Given the description of an element on the screen output the (x, y) to click on. 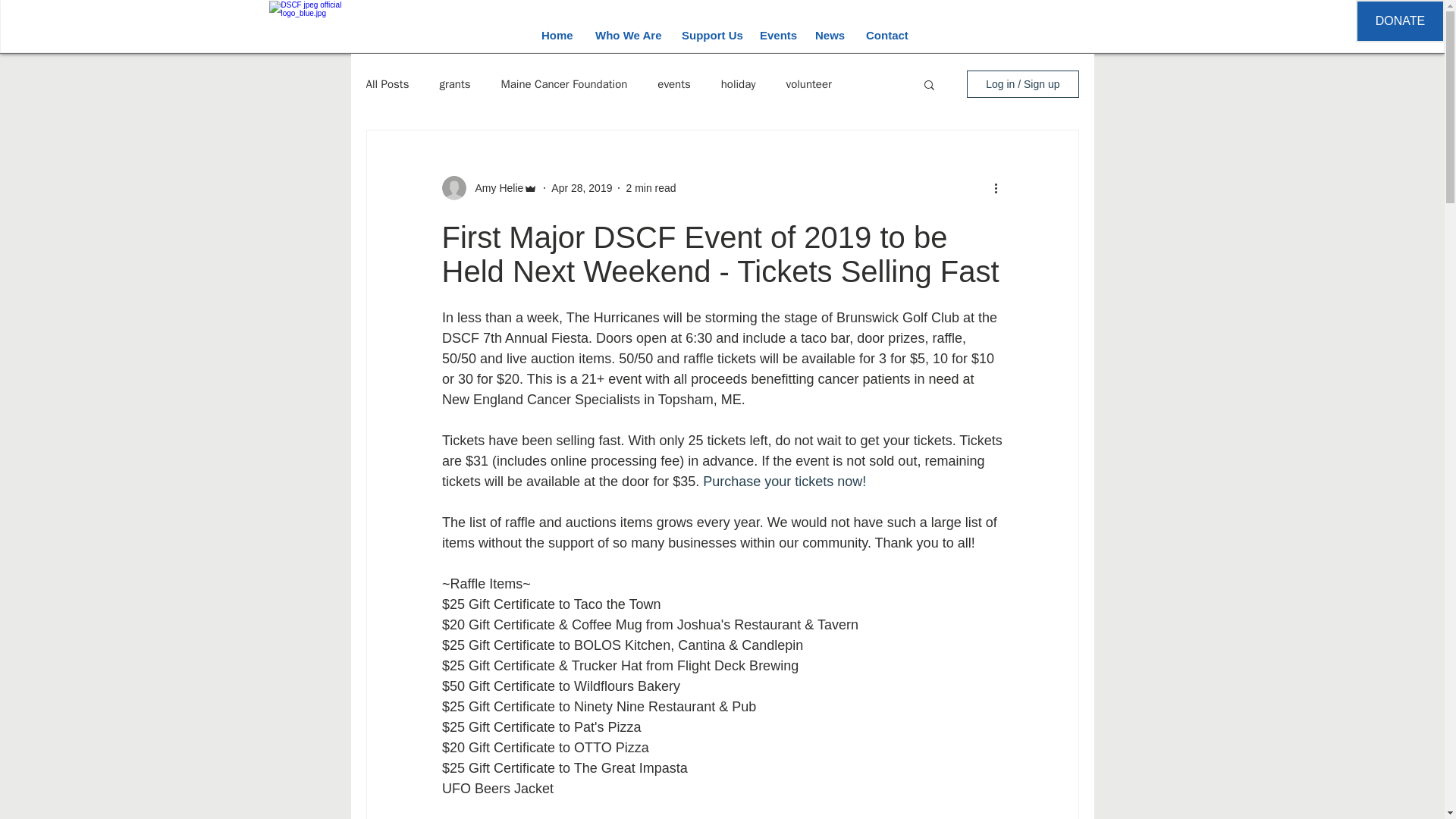
Home (556, 34)
Purchase your tickets now! (784, 481)
holiday (737, 83)
Maine Cancer Foundation (563, 83)
All Posts (387, 83)
2 min read (650, 187)
Amy Helie (493, 188)
Events (775, 34)
News (828, 34)
Who We Are (626, 34)
volunteer (808, 83)
events (674, 83)
grants (454, 83)
Contact (885, 34)
Support Us (708, 34)
